Given the description of an element on the screen output the (x, y) to click on. 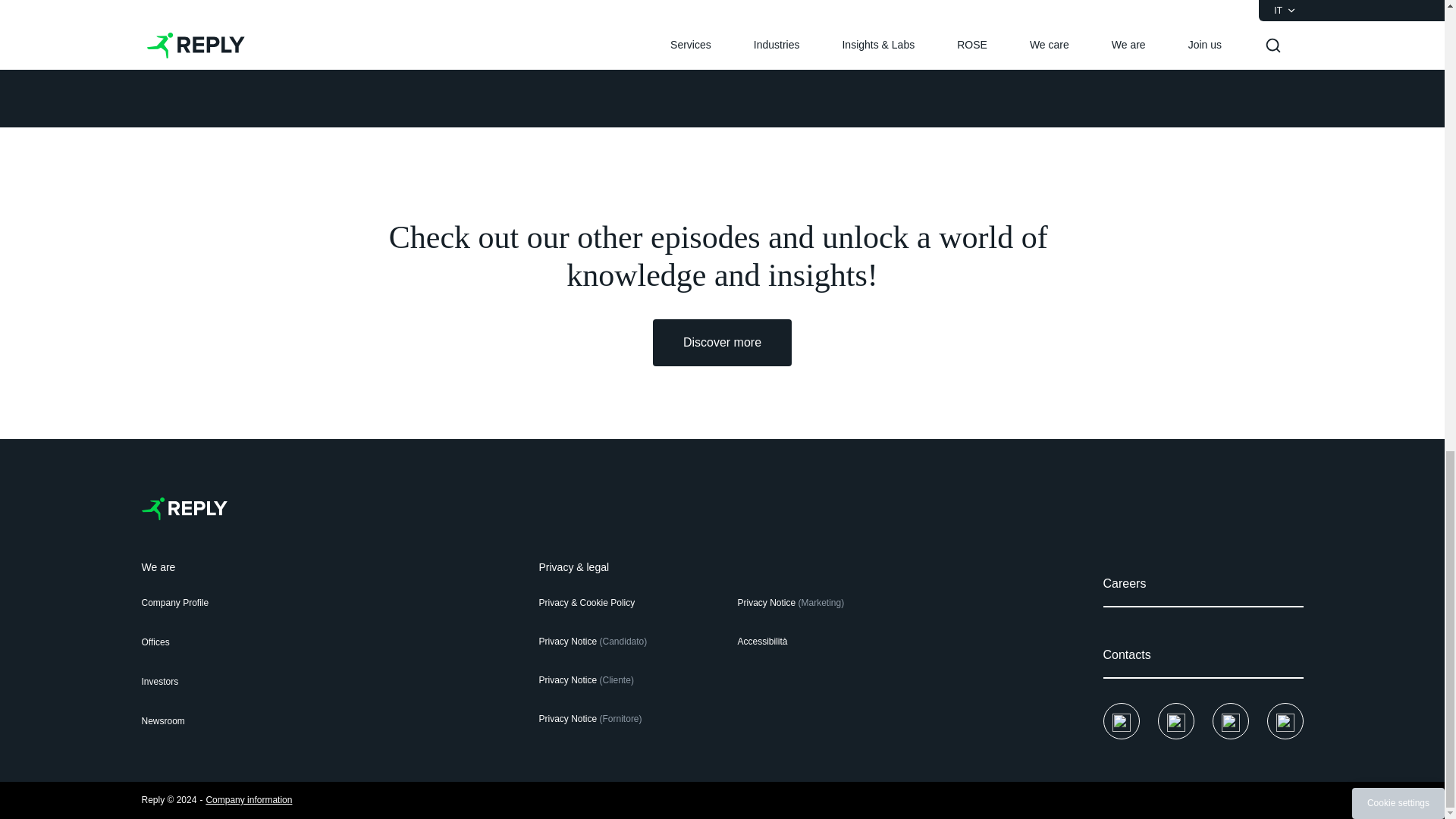
Facebook (1120, 720)
Reply Logo (184, 508)
Reply (184, 508)
Xing (1284, 720)
Twitter (1175, 720)
LinkedIn (1229, 720)
